Given the description of an element on the screen output the (x, y) to click on. 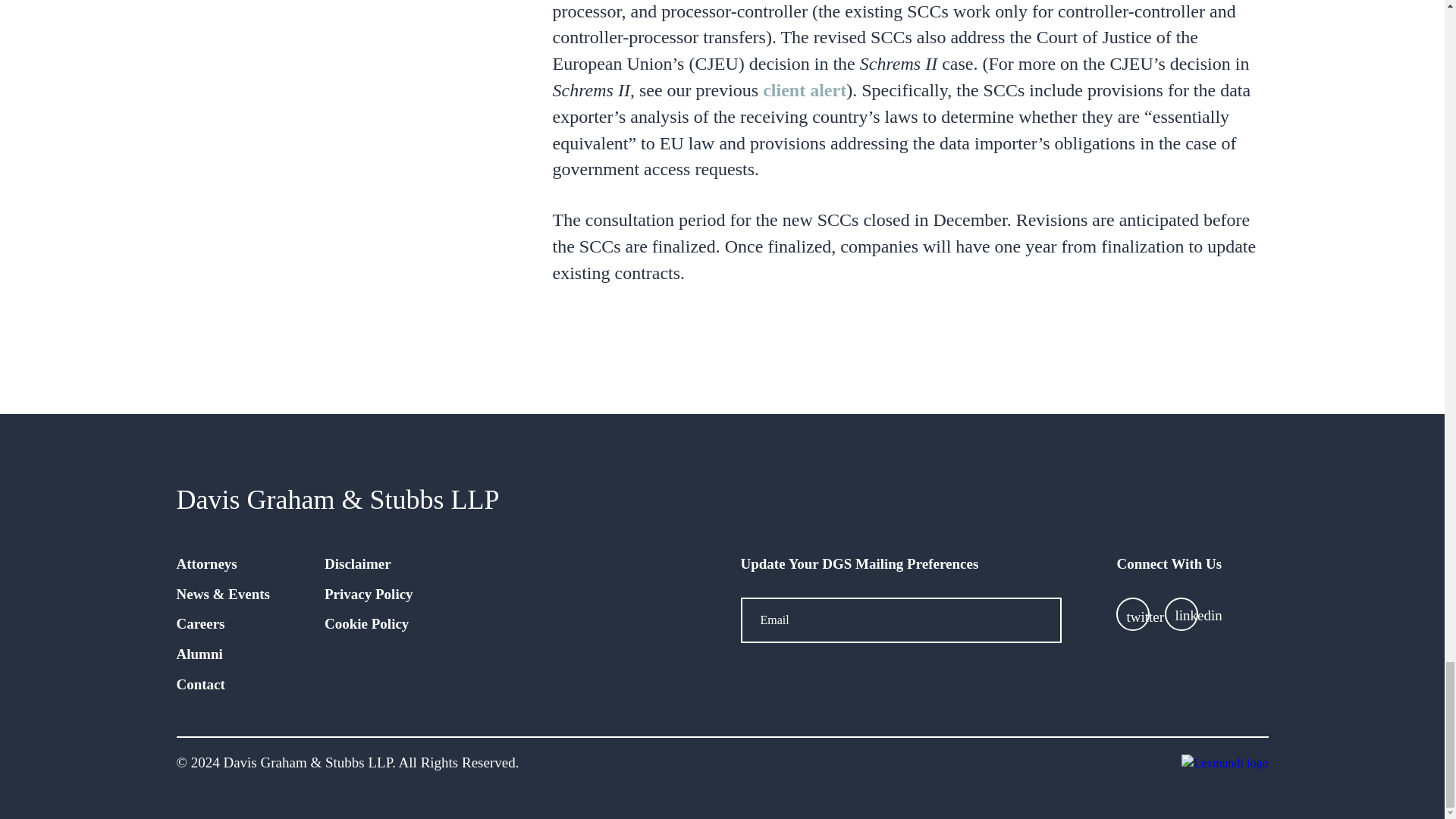
Careers (200, 623)
client alert (803, 89)
Attorneys (205, 563)
Alumni (199, 653)
